Given the description of an element on the screen output the (x, y) to click on. 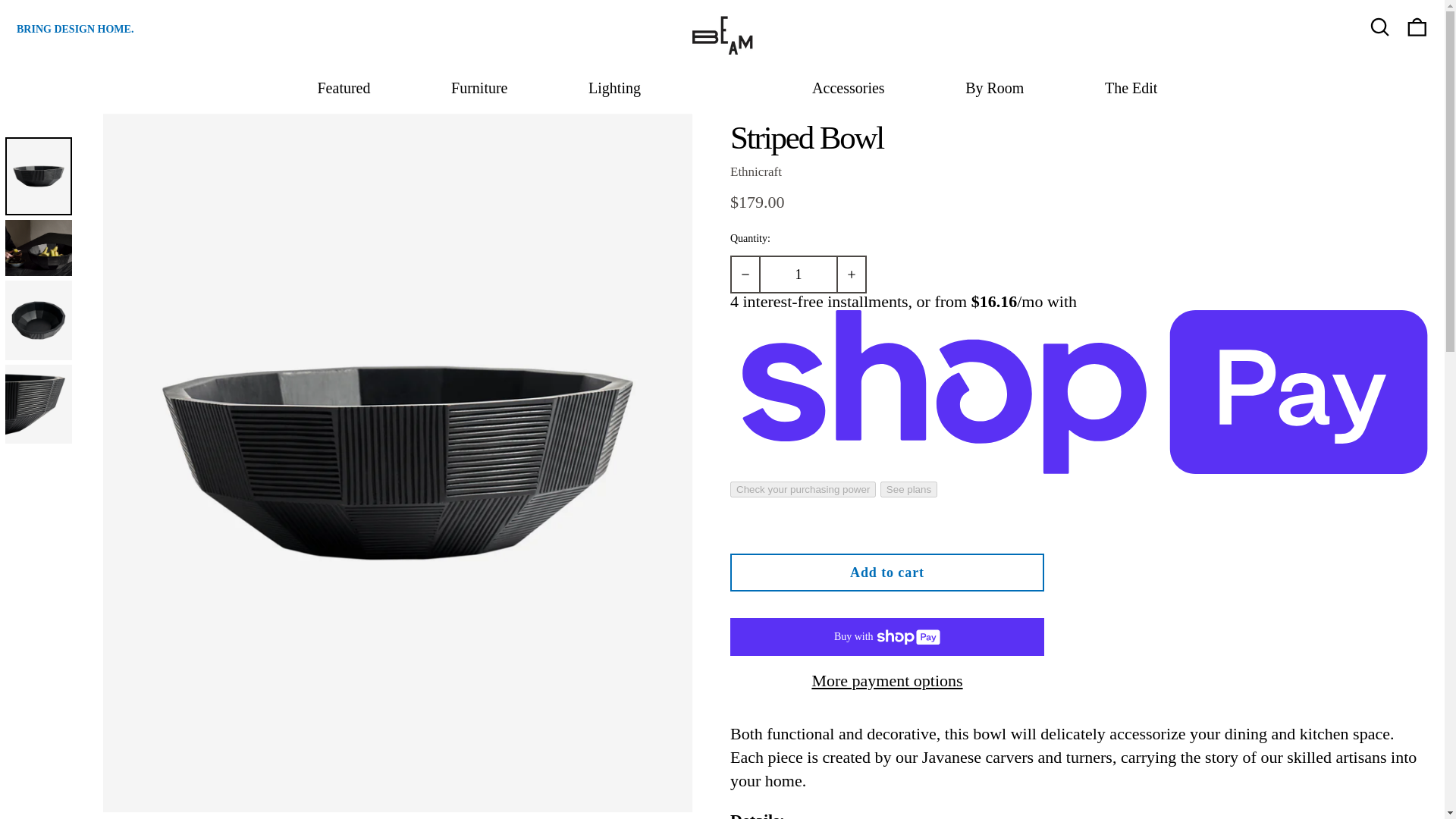
1 (797, 274)
